Given the description of an element on the screen output the (x, y) to click on. 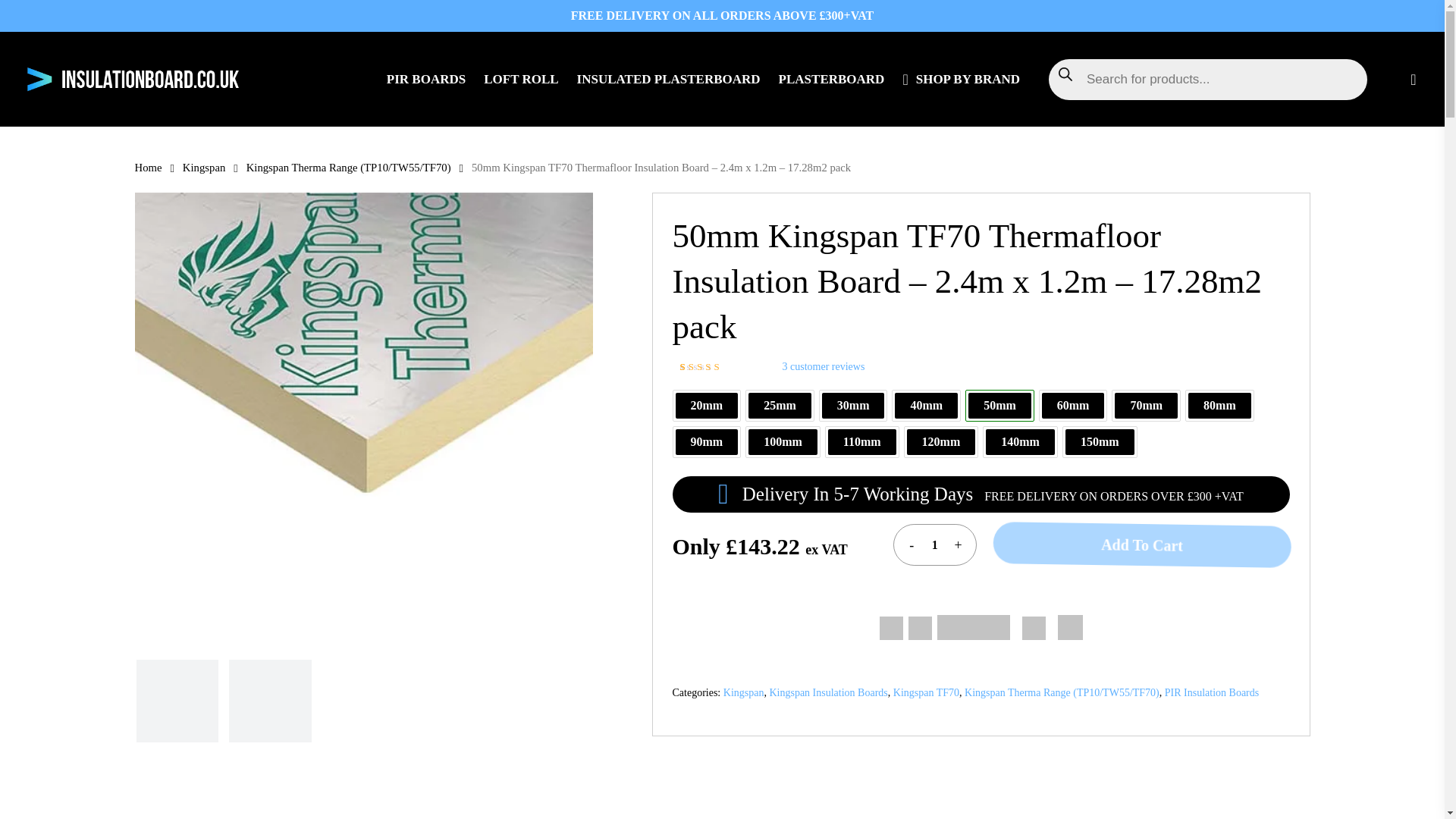
3 customer reviews (823, 367)
110mm (862, 442)
100mm (782, 442)
Kingspan (743, 692)
120mm (941, 442)
Home (148, 167)
90mm (706, 442)
30mm (853, 405)
60mm (1073, 405)
25mm (779, 405)
40mm (926, 405)
PIR BOARDS (426, 78)
